Given the description of an element on the screen output the (x, y) to click on. 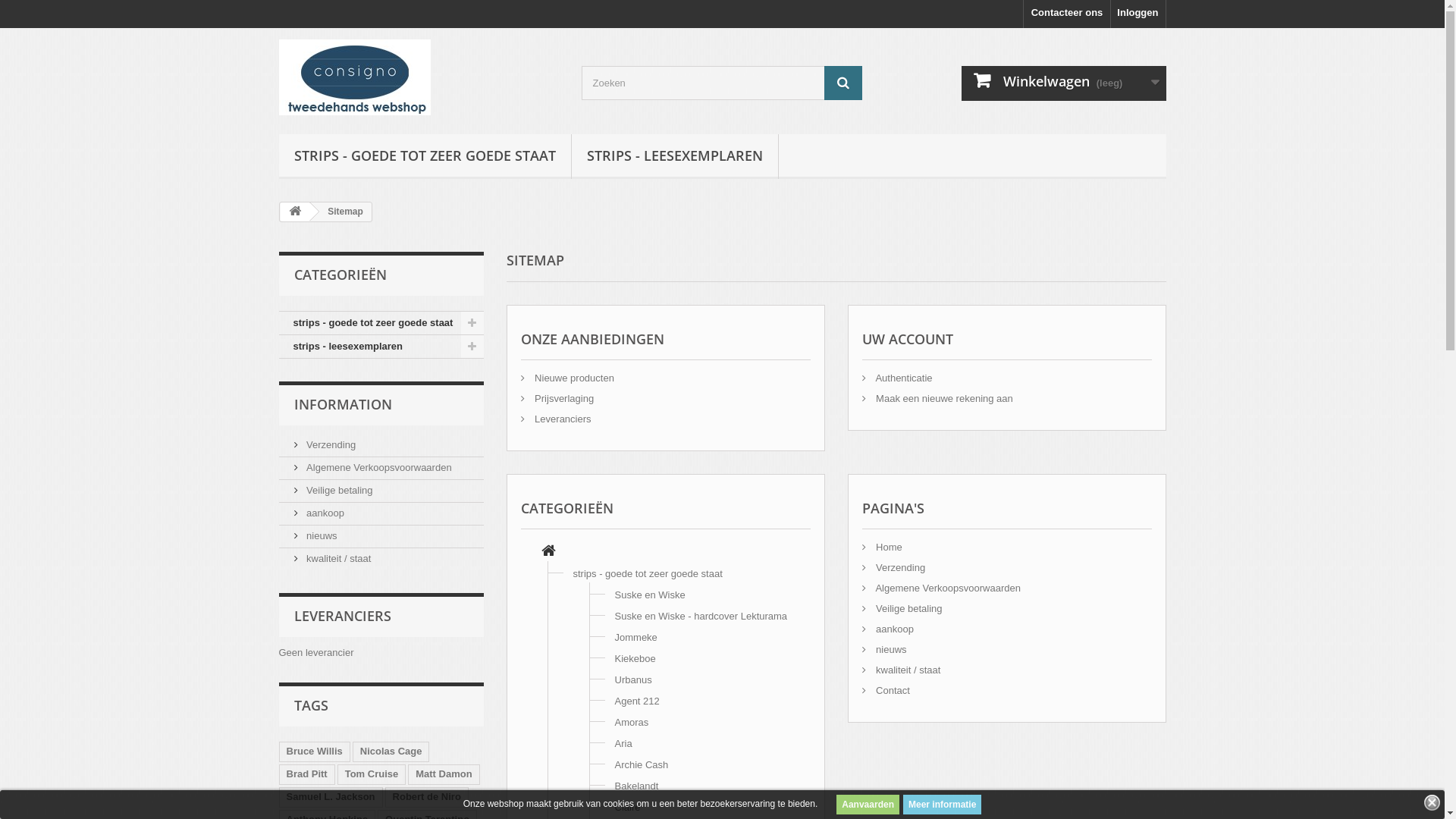
Home Element type: text (881, 546)
Meer informatie Element type: text (942, 804)
strips - leesexemplaren Element type: text (381, 346)
Aria Element type: text (622, 743)
Prijsverlaging Element type: text (556, 398)
Nieuwe producten Element type: text (566, 377)
Suske en Wiske - hardcover Lekturama Element type: text (700, 615)
Samuel L. Jackson Element type: text (330, 797)
kwaliteit / staat Element type: text (900, 669)
Agent 212 Element type: text (636, 700)
Veilige betaling Element type: text (333, 489)
Aanvaarden Element type: text (867, 804)
Algemene Verkoopsvoorwaarden Element type: text (940, 587)
Verzending Element type: text (893, 567)
Algemene Verkoopsvoorwaarden Element type: text (372, 467)
aankoop Element type: text (887, 628)
Leveranciers Element type: text (555, 418)
Authenticatie Element type: text (896, 377)
INFORMATION Element type: text (343, 404)
Claire Element type: text (627, 806)
Bruce Willis Element type: text (314, 751)
Winkelwagen (leeg) Element type: text (1063, 82)
Contact Element type: text (885, 690)
Urbanus Element type: text (632, 679)
STRIPS - LEESEXEMPLAREN Element type: text (674, 156)
Contacteer ons Element type: text (1066, 14)
Inloggen Element type: text (1137, 14)
Verzending Element type: text (325, 444)
Jommeke Element type: text (635, 637)
Nicolas Cage Element type: text (390, 751)
strips - goede tot zeer goede staat Element type: text (647, 573)
nieuws Element type: text (315, 535)
strips - goede tot zeer goede staat Element type: text (381, 323)
STRIPS - GOEDE TOT ZEER GOEDE STAAT Element type: text (425, 156)
Veilige betaling Element type: text (901, 608)
Archie Cash Element type: text (641, 764)
Terug naar Home Element type: hover (294, 211)
Robert de Niro Element type: text (426, 797)
Consigno Element type: hover (419, 77)
Brad Pitt Element type: text (307, 774)
aankoop Element type: text (319, 512)
nieuws Element type: text (883, 649)
Matt Damon Element type: text (443, 774)
Suske en Wiske Element type: text (649, 594)
Bakelandt Element type: text (636, 785)
Amoras Element type: text (631, 722)
Maak een nieuwe rekening aan Element type: text (936, 398)
Kiekeboe Element type: text (634, 658)
Home Element type: hover (548, 552)
kwaliteit / staat Element type: text (332, 558)
Tom Cruise Element type: text (371, 774)
